Given the description of an element on the screen output the (x, y) to click on. 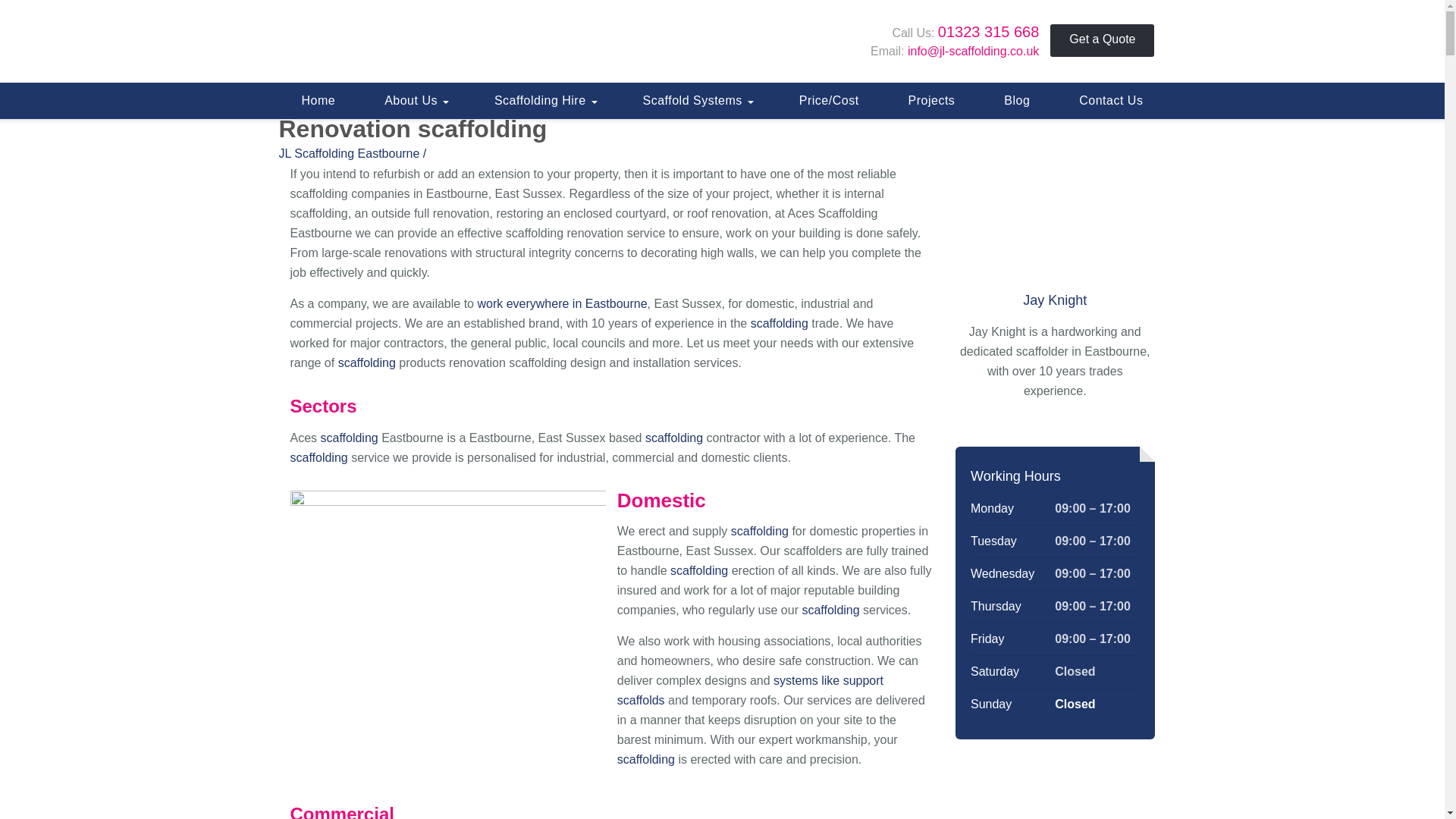
Contact Us (1110, 100)
systems like support scaffolds (750, 690)
scaffolding (830, 609)
scaffolding (366, 362)
scaffolding (349, 437)
scaffolding (349, 437)
Scaffolding Hire (544, 100)
scaffolding (779, 323)
scaffolding (366, 362)
work everywhere in Eastbourne (561, 303)
